Given the description of an element on the screen output the (x, y) to click on. 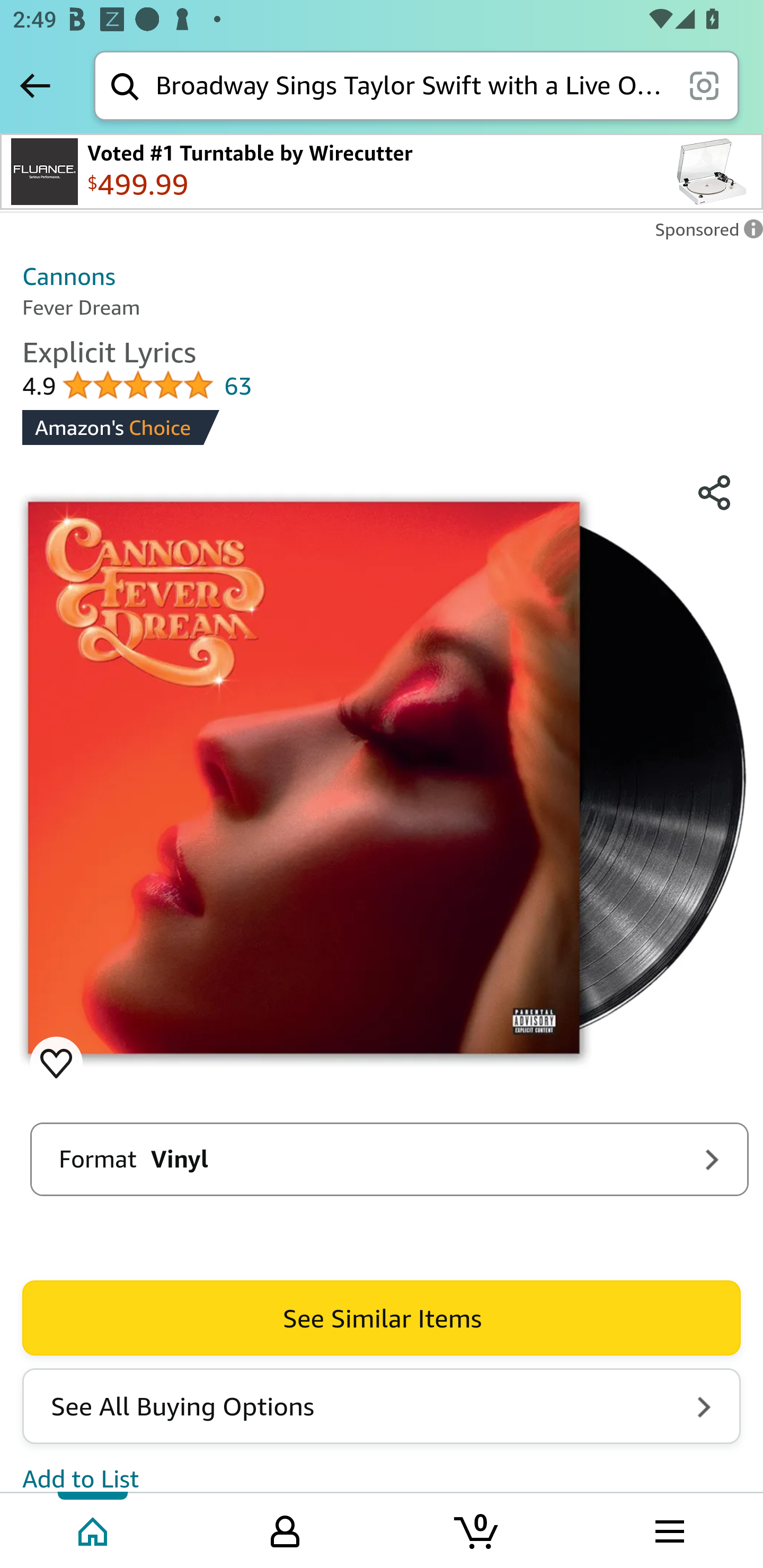
Back (35, 85)
scan it (704, 85)
Leave feedback on Sponsored ad Sponsored  (703, 234)
Cannons (68, 275)
Fever Dream (381, 778)
Heart to save an item to your default list (56, 1062)
Format Vinyl (389, 1159)
See Similar Items (381, 1318)
See All Buying Options (381, 1406)
Add to List (80, 1477)
Home Tab 1 of 4 (94, 1529)
Your Amazon.com Tab 2 of 4 (285, 1529)
Cart 0 item Tab 3 of 4 0 (477, 1529)
Browse menu Tab 4 of 4 (668, 1529)
